Given the description of an element on the screen output the (x, y) to click on. 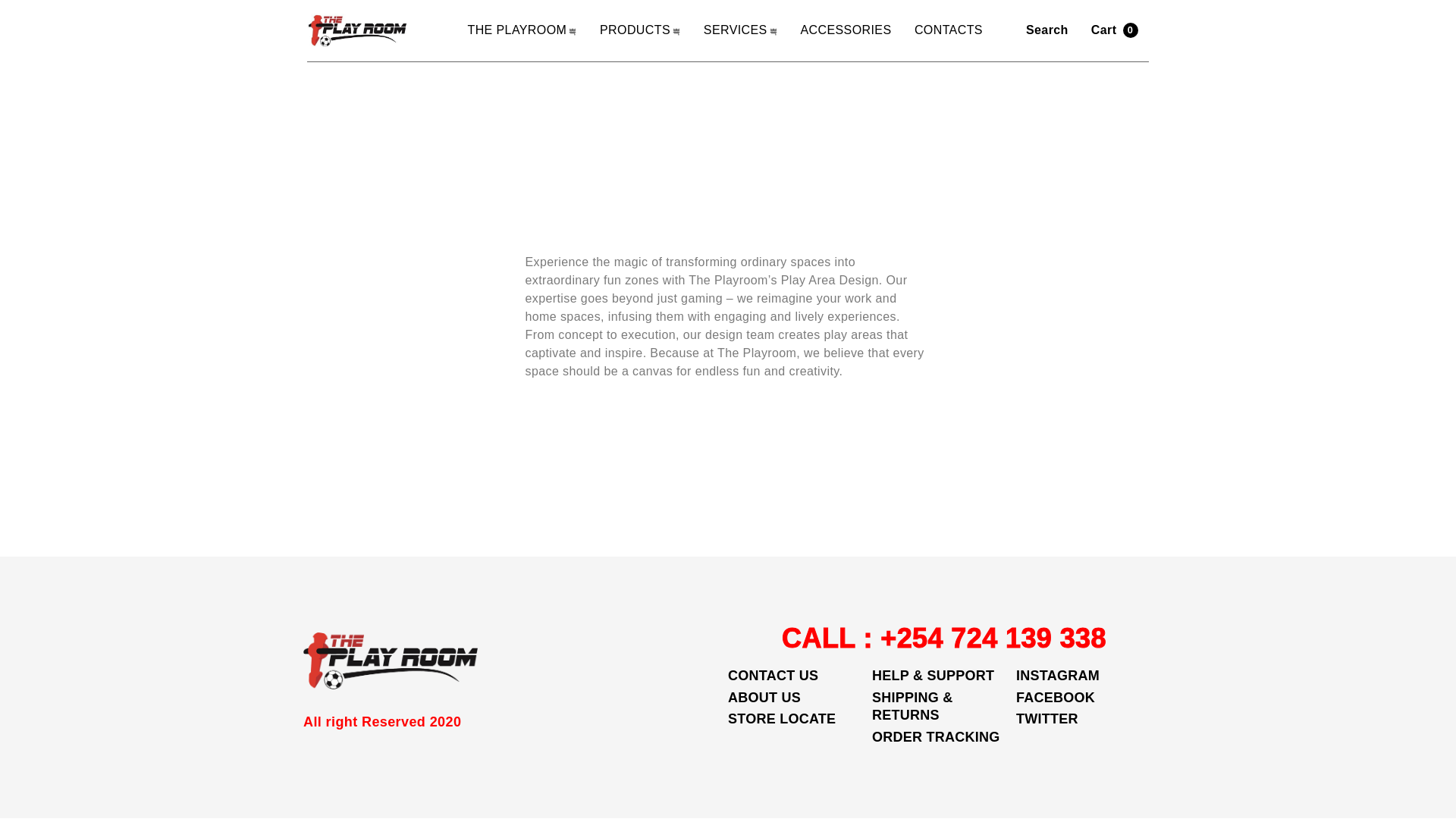
CONTACTS (948, 30)
PRODUCTS (639, 30)
THE PLAYROOM (521, 30)
The Playroom (357, 30)
ACCESSORIES (845, 30)
SERVICES (739, 30)
